Given the description of an element on the screen output the (x, y) to click on. 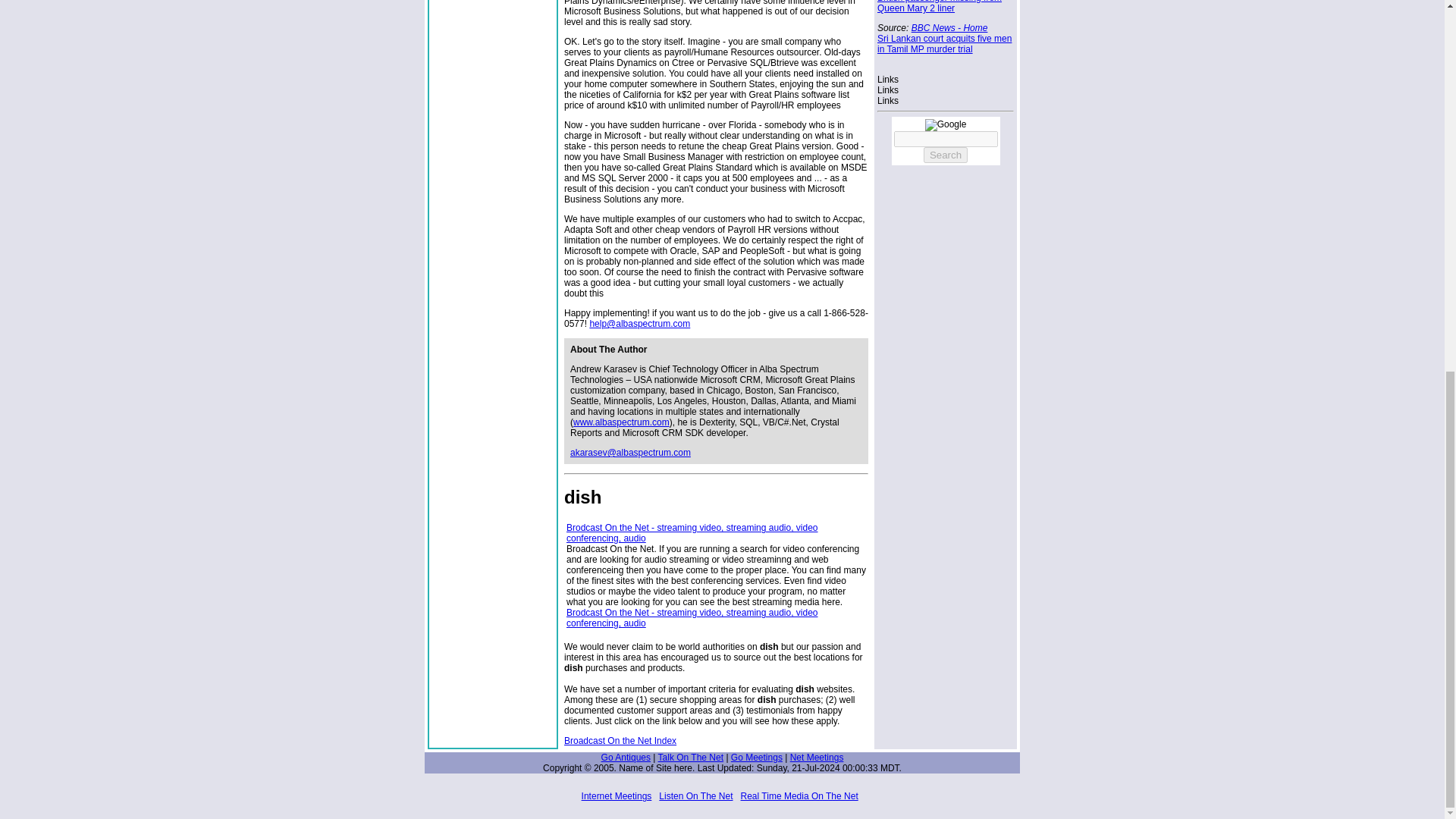
Talk On The Net (690, 757)
www.albaspectrum.com (621, 421)
Real Time Media On The Net (800, 796)
Search (945, 154)
BBC News - Home (949, 27)
Go Antiques (625, 757)
Internet Meetings (616, 796)
Broadcast On the Net Index (620, 740)
British passenger missing from Queen Mary 2 liner (939, 6)
Go Meetings (756, 757)
Sri Lankan court acquits five men in Tamil MP murder trial (944, 43)
Net Meetings (817, 757)
Listen On The Net (695, 796)
